Given the description of an element on the screen output the (x, y) to click on. 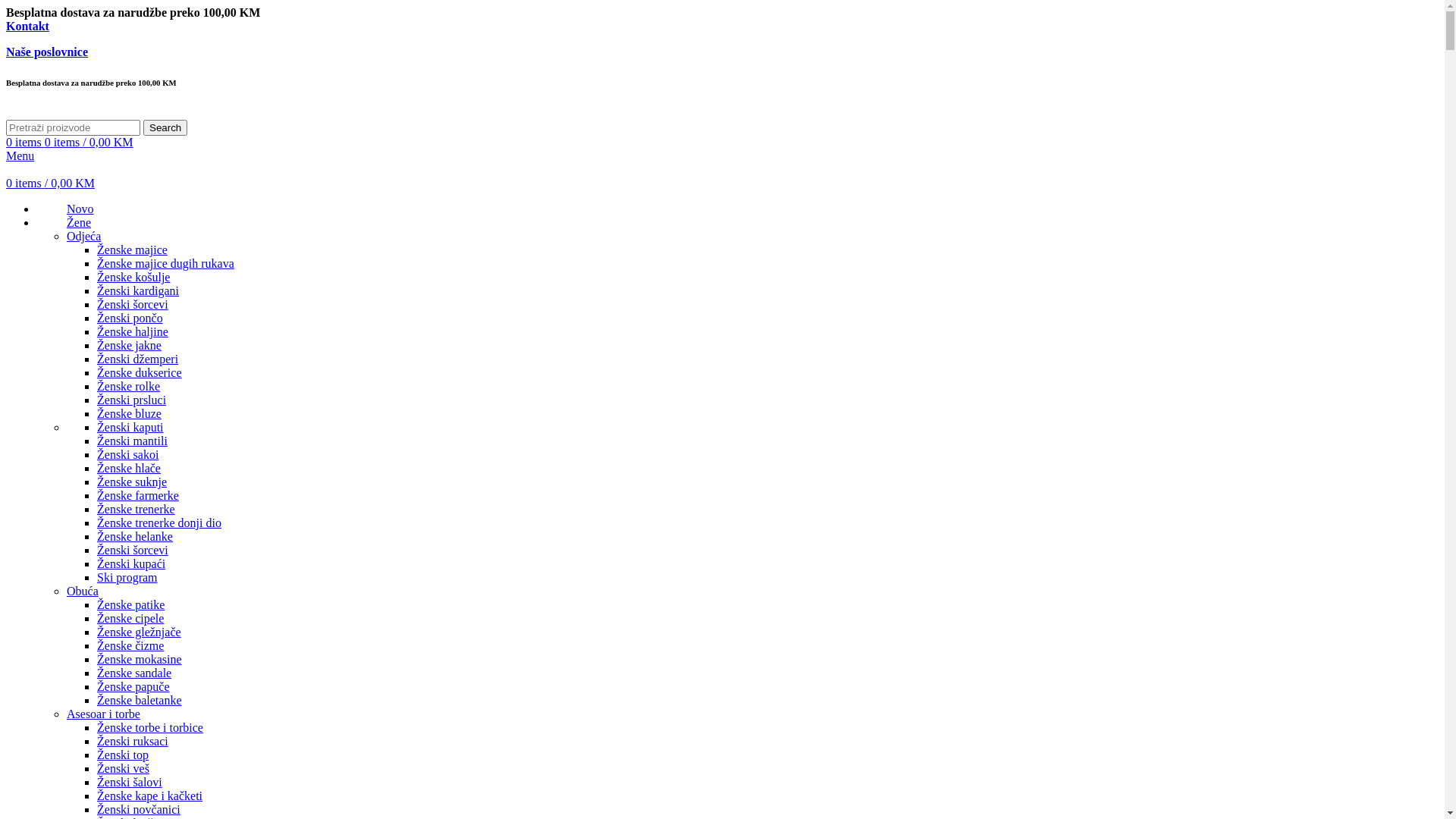
0 items / 0,00 KM Element type: text (50, 182)
Novo Element type: text (80, 208)
Kontakt Element type: text (27, 25)
Ski program Element type: text (127, 577)
Asesoar i torbe Element type: text (103, 713)
Menu Element type: text (20, 155)
Search Element type: text (165, 127)
0 items 0 items / 0,00 KM Element type: text (69, 141)
